Given the description of an element on the screen output the (x, y) to click on. 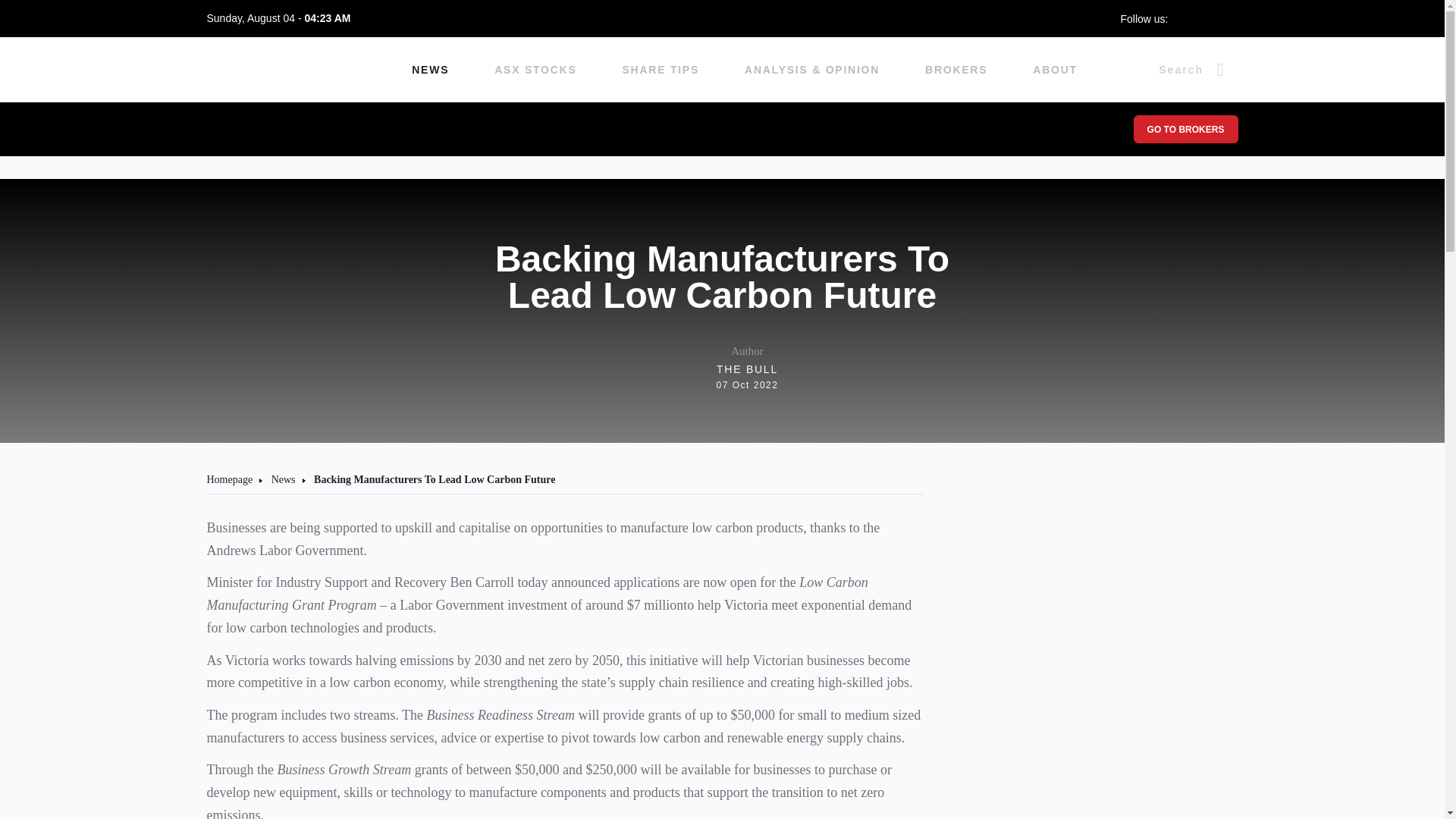
ABOUT (1054, 69)
BROKERS (955, 69)
NEWS (430, 69)
ASX STOCKS (535, 69)
Homepage (228, 479)
GO TO BROKERS (1184, 129)
SHARE TIPS (661, 69)
News (722, 367)
